Given the description of an element on the screen output the (x, y) to click on. 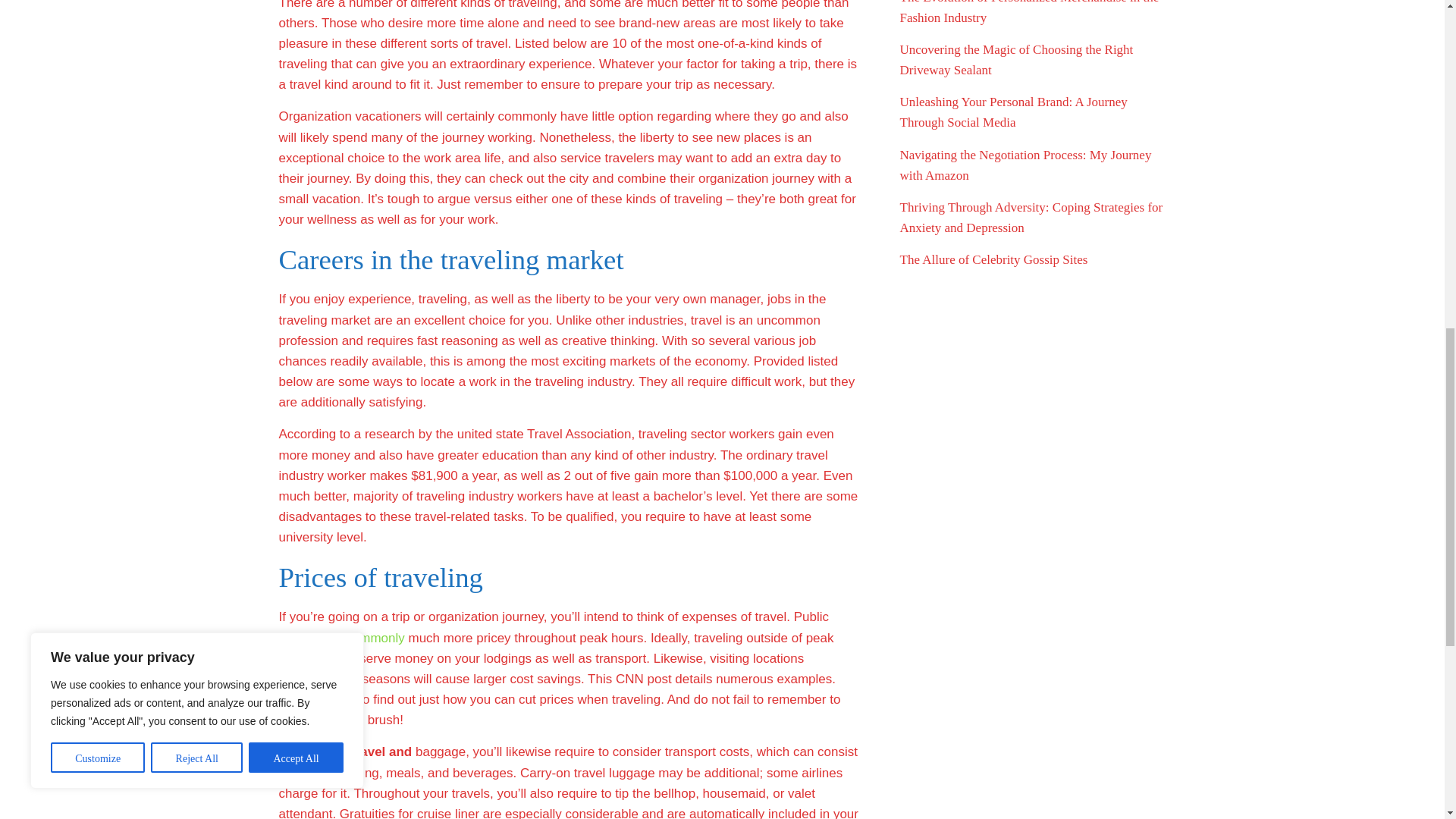
commonly (375, 637)
Uncovering the Magic of Choosing the Right Driveway Sealant (1015, 59)
